Given the description of an element on the screen output the (x, y) to click on. 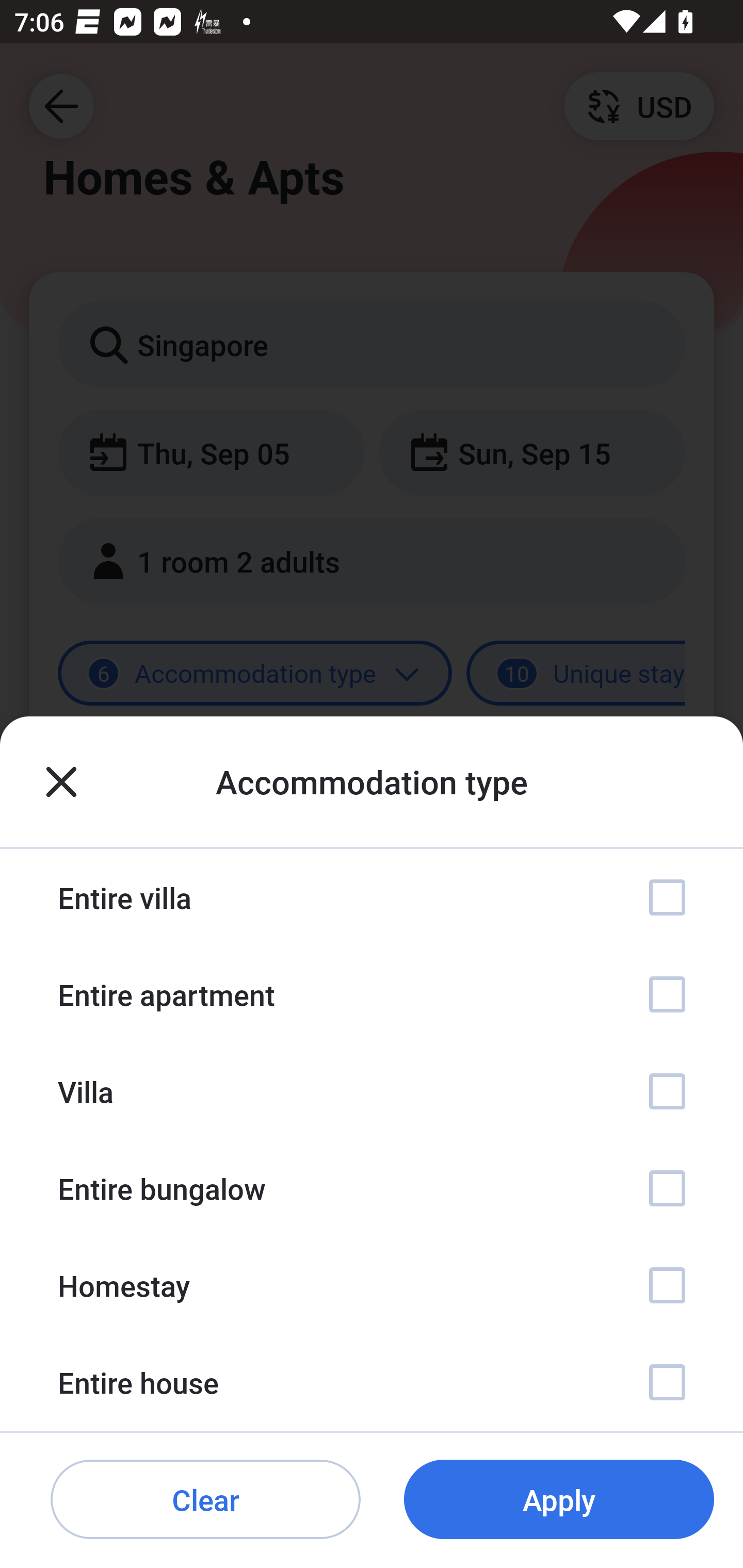
Entire villa (371, 897)
Entire apartment (371, 994)
Villa (371, 1091)
Entire bungalow (371, 1188)
Homestay (371, 1284)
Entire house (371, 1382)
Clear (205, 1499)
Apply (559, 1499)
